Given the description of an element on the screen output the (x, y) to click on. 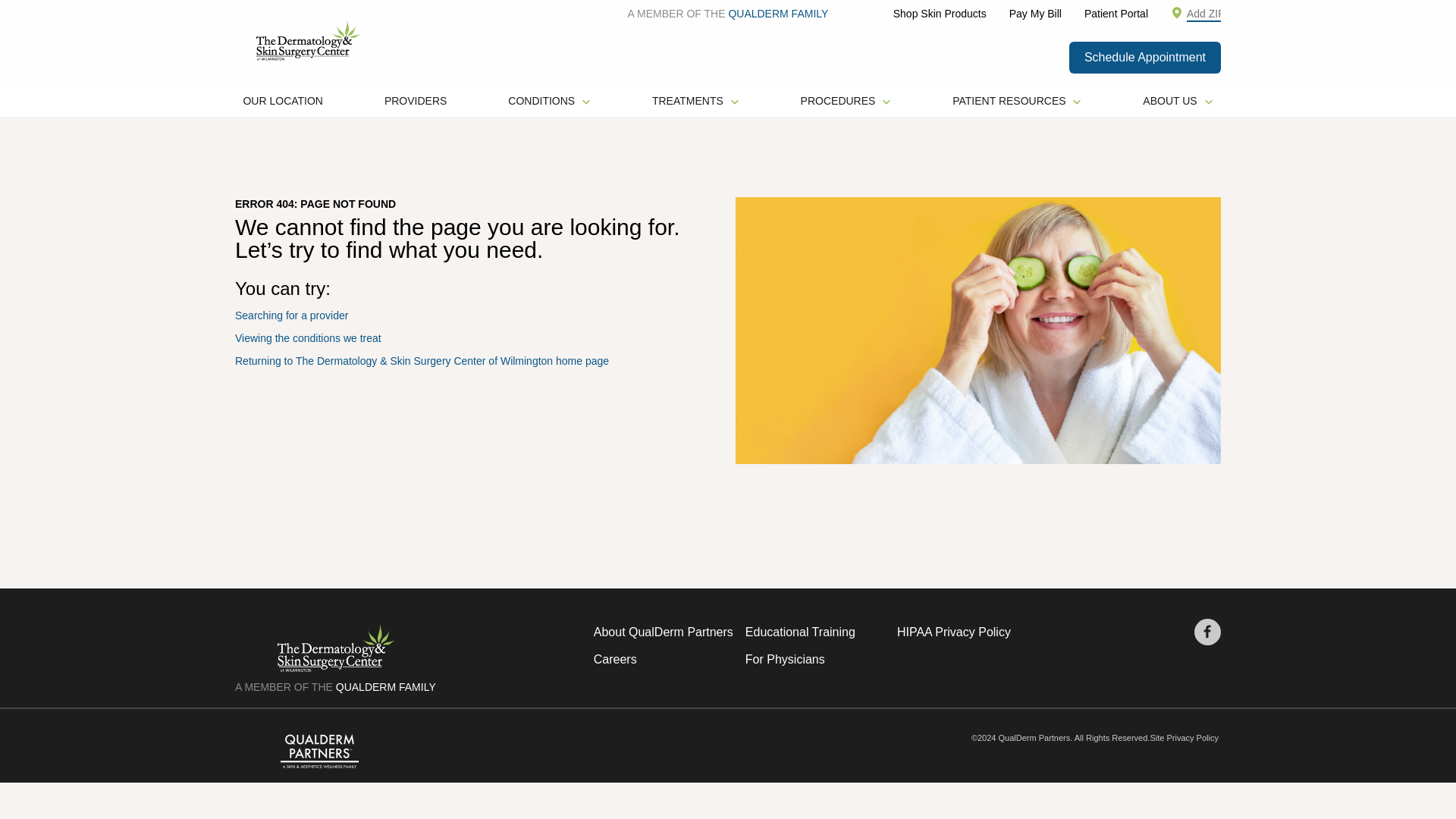
OUR LOCATION (282, 101)
TREATMENTS (695, 101)
PROVIDERS (415, 101)
Shop Skin Products (940, 13)
Pay My Bill (1035, 13)
CONDITIONS (549, 101)
Schedule Appointment (1144, 57)
PROCEDURES (845, 101)
Patient Portal (1116, 13)
QUALDERM FAMILY (778, 13)
